Given the description of an element on the screen output the (x, y) to click on. 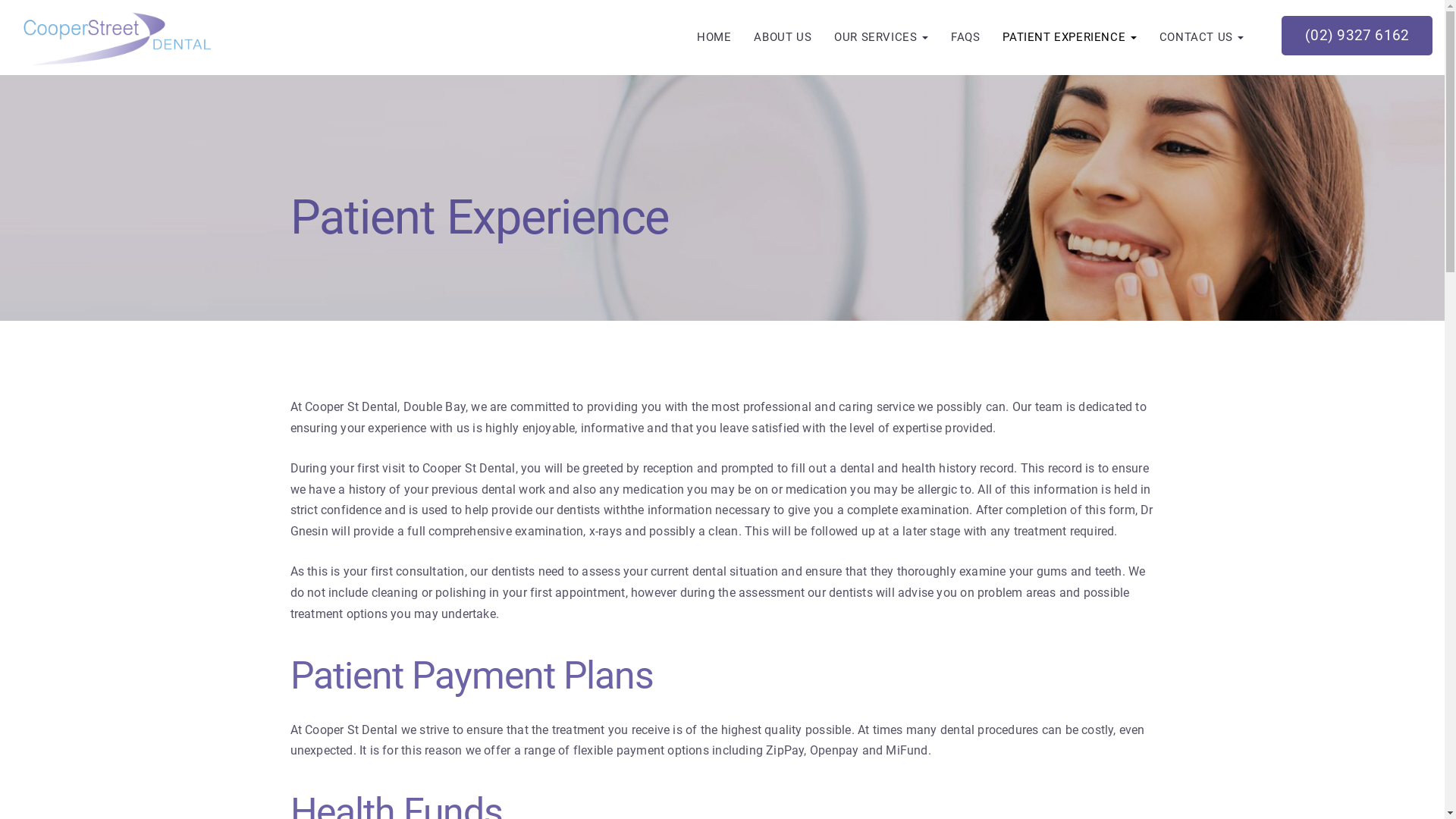
(02) 9327 6162 Element type: text (1356, 35)
ABOUT US Element type: text (782, 37)
OUR SERVICES Element type: text (880, 37)
FAQS Element type: text (965, 37)
HOME Element type: text (713, 37)
CONTACT US Element type: text (1201, 37)
PATIENT EXPERIENCE Element type: text (1069, 37)
